Given the description of an element on the screen output the (x, y) to click on. 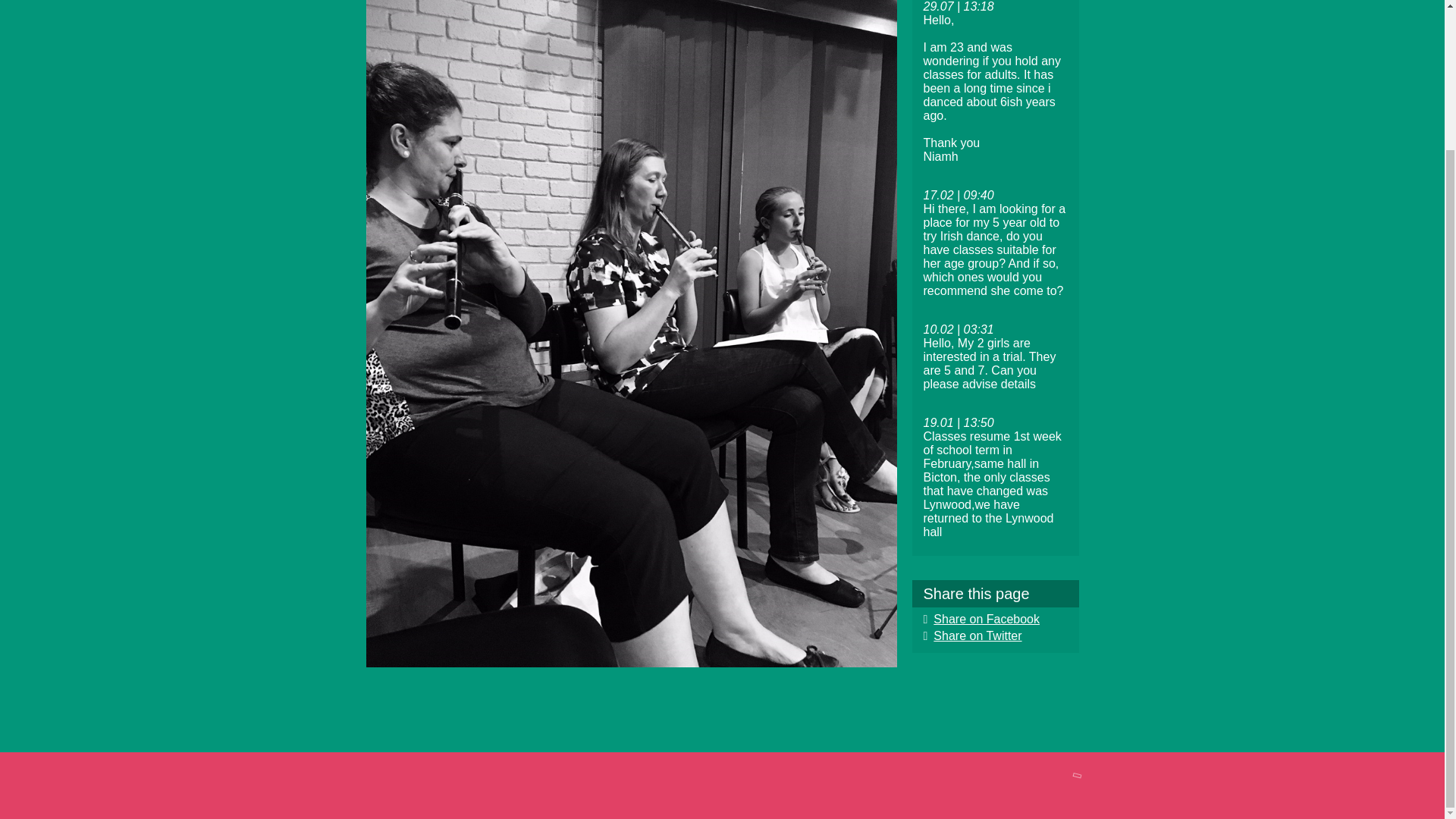
Share on Facebook (982, 618)
Share on Twitter (972, 635)
